Given the description of an element on the screen output the (x, y) to click on. 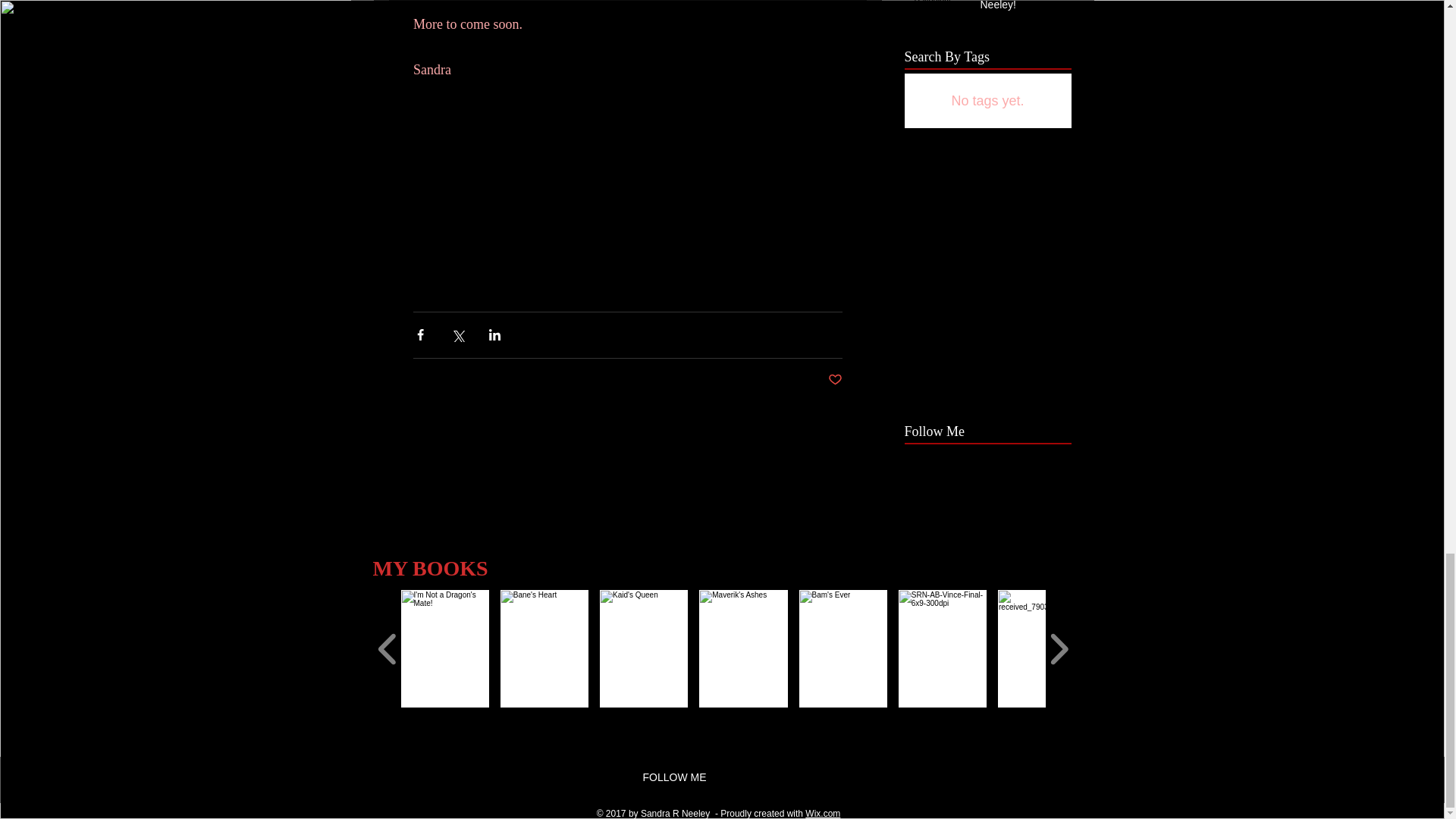
Brain Ramblings From Sandra R Neeley! (1020, 9)
Post not marked as liked (835, 380)
